Given the description of an element on the screen output the (x, y) to click on. 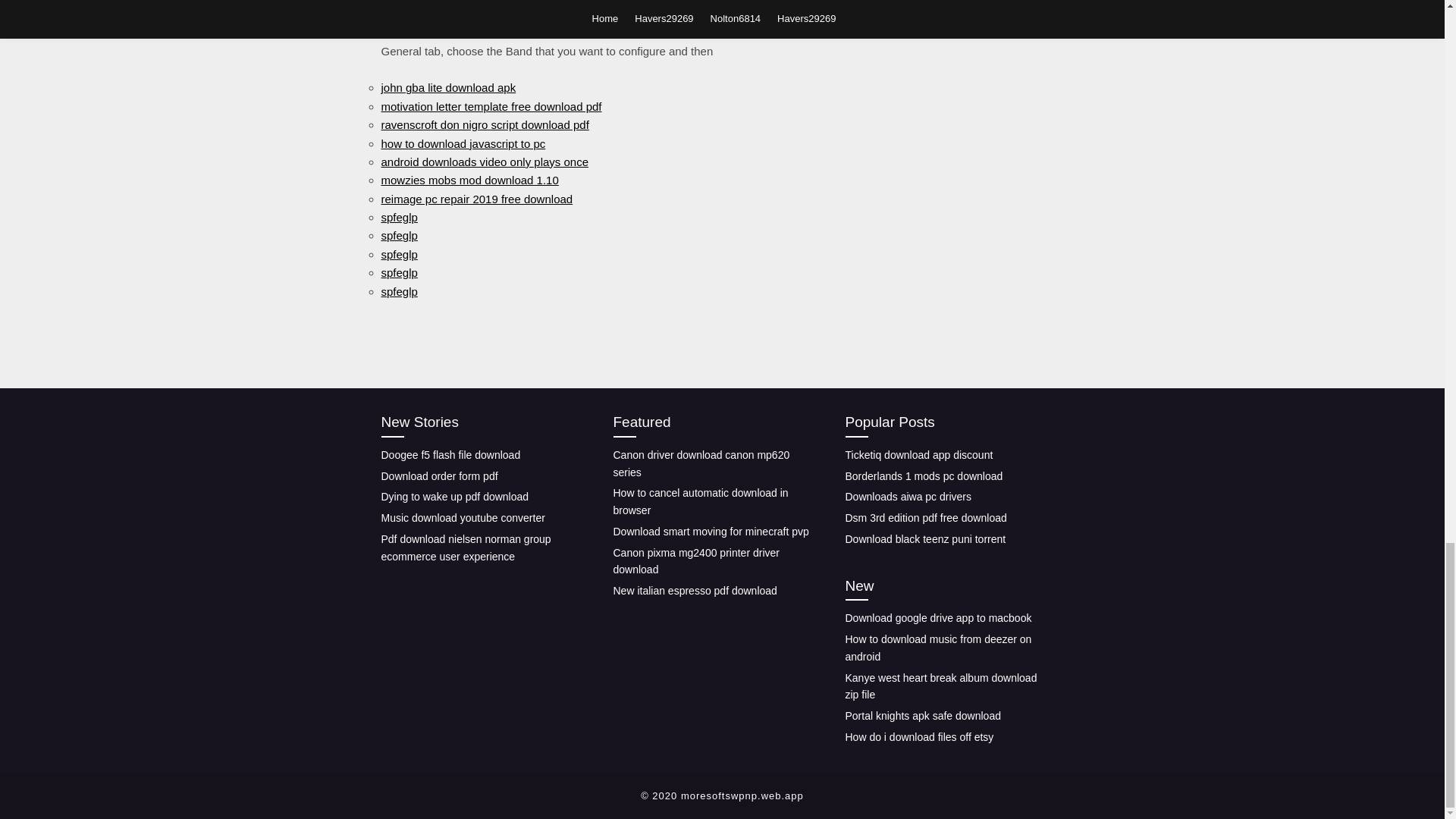
android downloads video only plays once (484, 161)
Download smart moving for minecraft pvp (710, 531)
mowzies mobs mod download 1.10 (468, 179)
Dsm 3rd edition pdf free download (925, 517)
Dying to wake up pdf download (454, 496)
Canon driver download canon mp620 series (700, 463)
motivation letter template free download pdf (490, 106)
spfeglp (398, 216)
reimage pc repair 2019 free download (476, 198)
How to cancel automatic download in browser (699, 501)
